Given the description of an element on the screen output the (x, y) to click on. 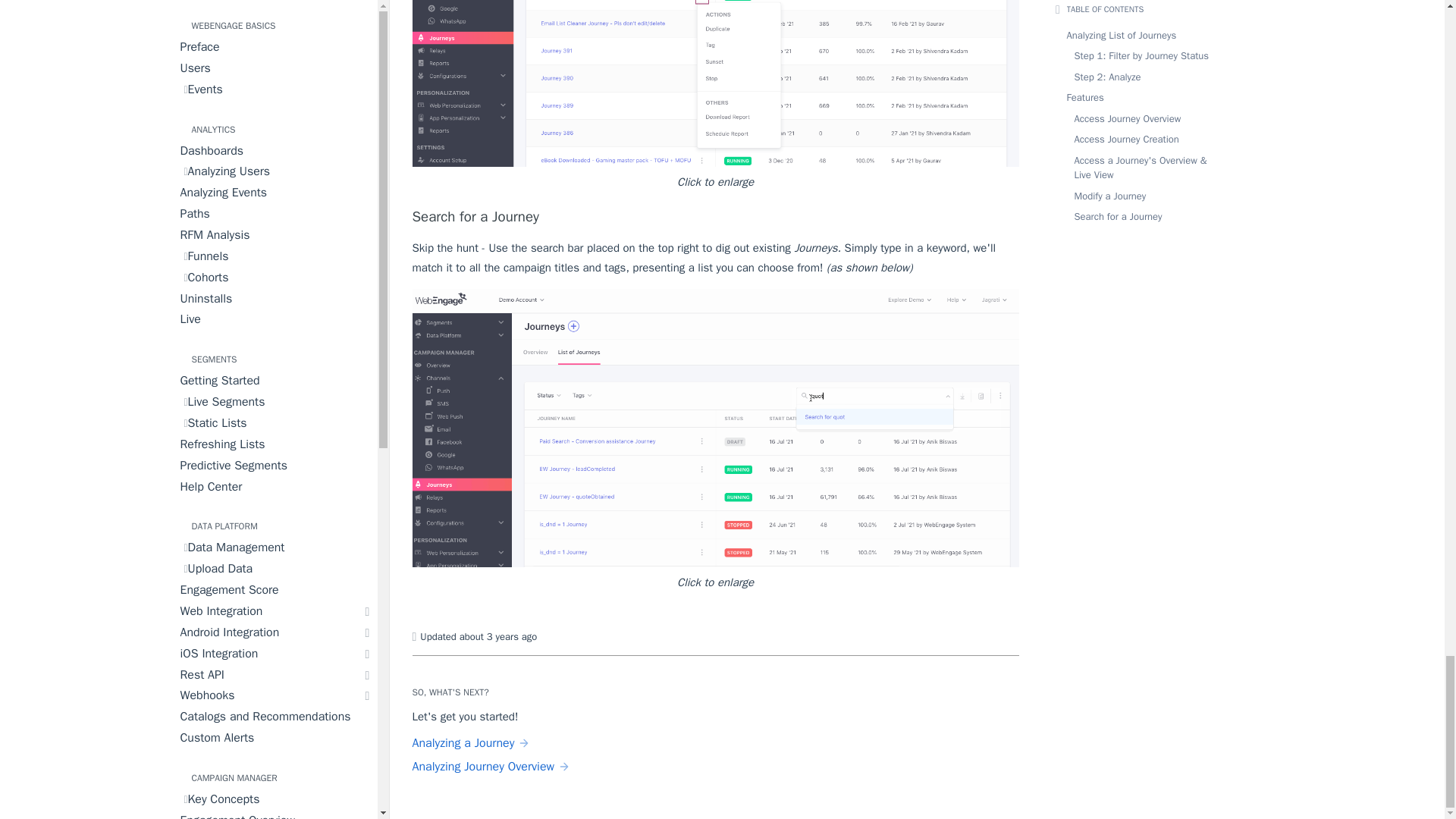
Search for a Journey (715, 216)
modify-journey.png (715, 83)
